Given the description of an element on the screen output the (x, y) to click on. 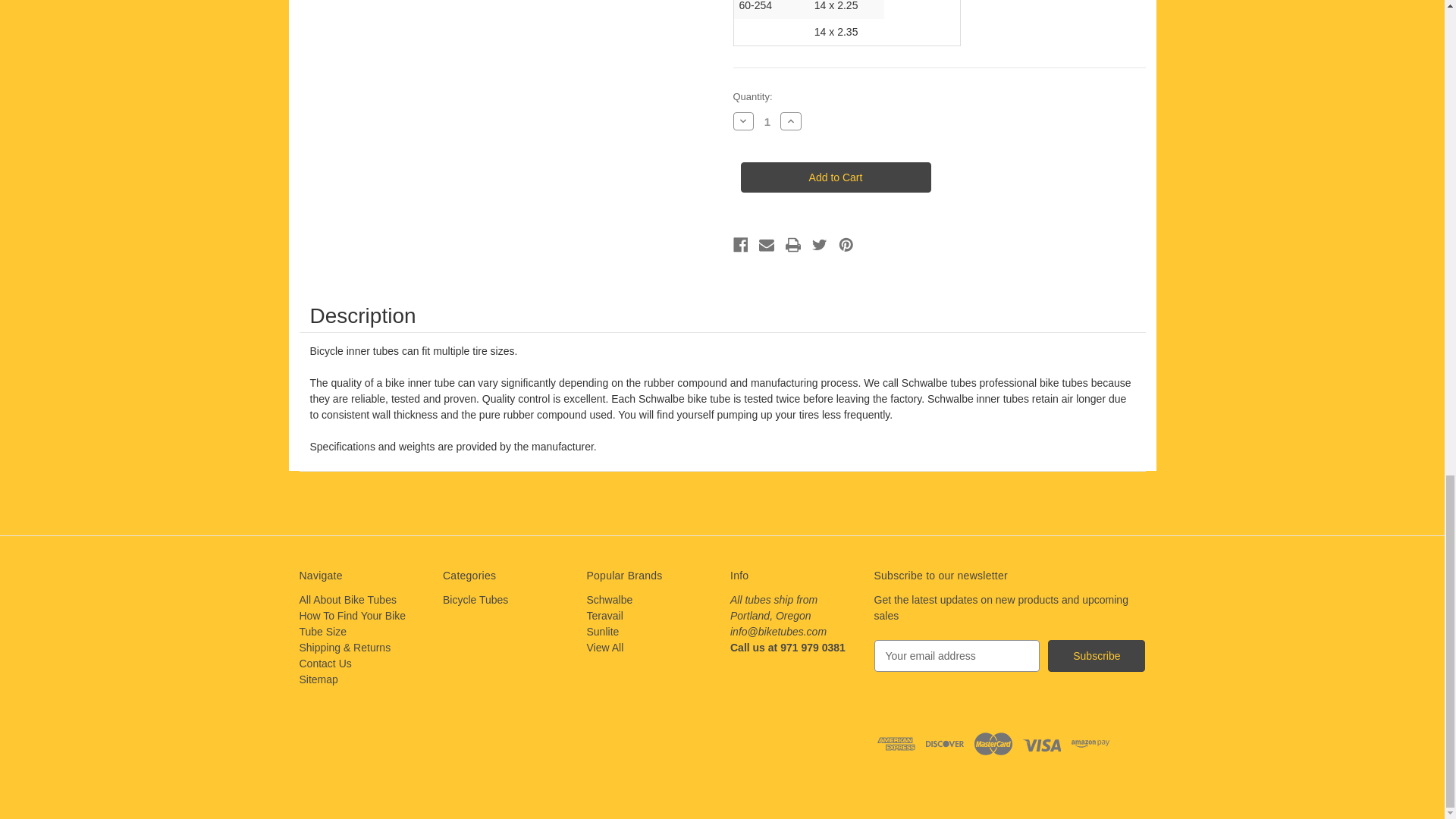
All About Bike Tubes (347, 599)
Facebook (740, 244)
Print (793, 244)
Email (766, 244)
Subscribe (1096, 655)
Add to Cart (834, 177)
Contact Us (324, 663)
Pinterest (845, 244)
Add to Cart (834, 177)
Sitemap (317, 679)
Bicycle Tubes (475, 599)
1 (767, 121)
Decrease Quantity of Schwalbe Bike Tube 14" AV2A (743, 121)
How To Find Your Bike Tube Size (352, 623)
Schwalbe (609, 599)
